Given the description of an element on the screen output the (x, y) to click on. 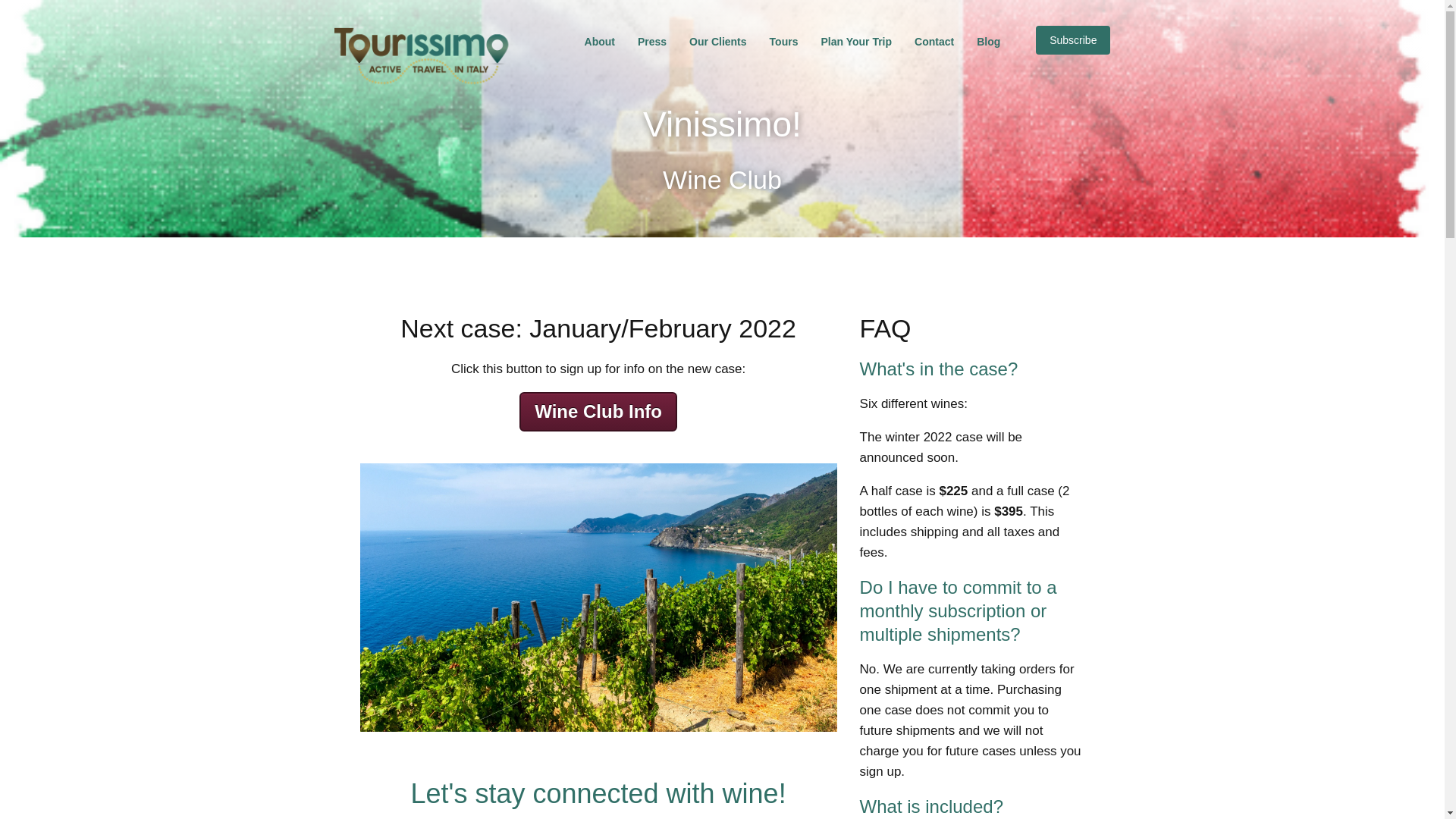
Tours (783, 40)
Subscribe (1072, 39)
About (599, 40)
Wine Club Info (598, 411)
Our Clients (717, 40)
Tourissimo (422, 55)
Press (652, 40)
